Given the description of an element on the screen output the (x, y) to click on. 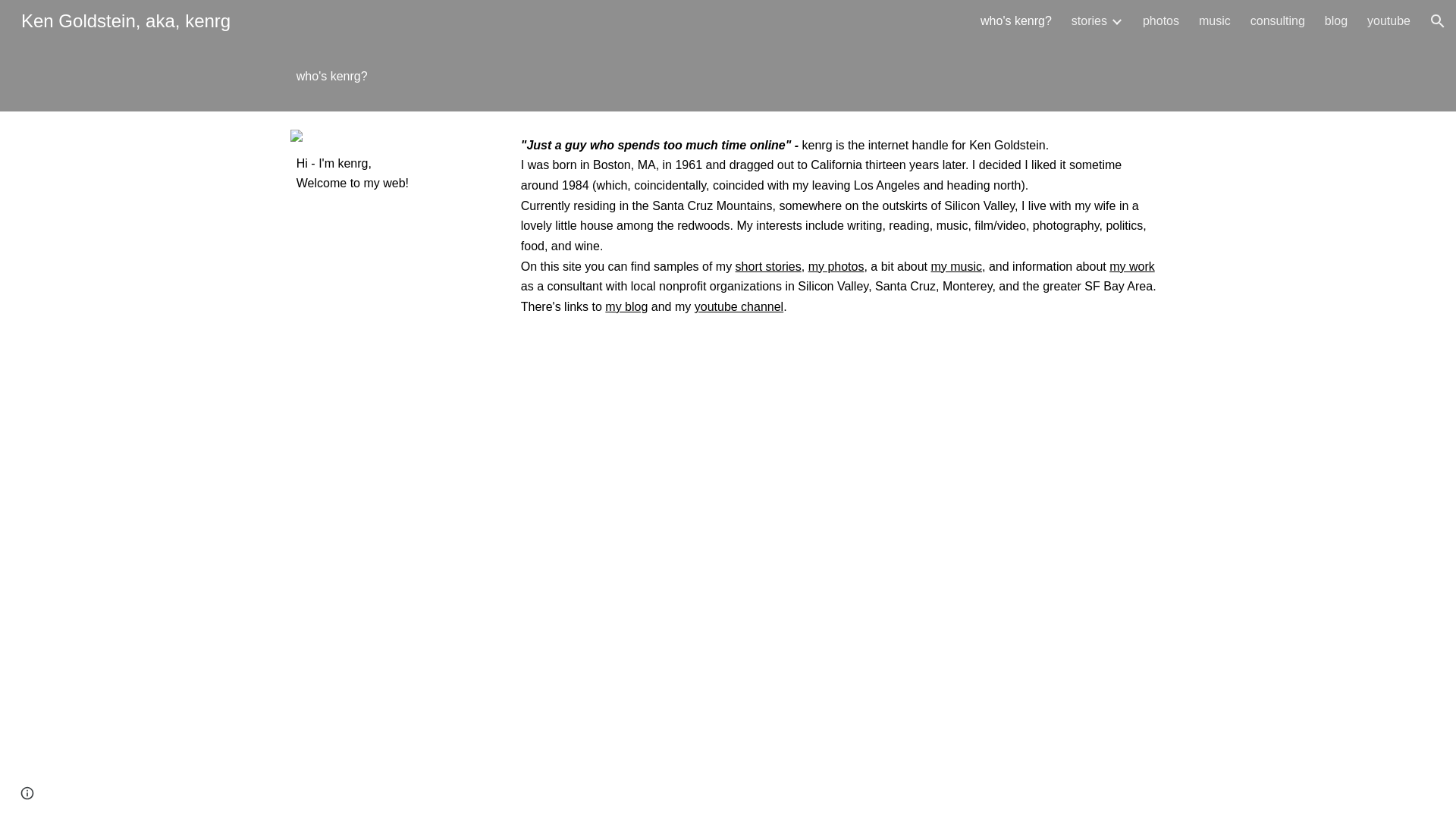
youtube (1388, 20)
consulting (1277, 20)
blog (1336, 20)
photos (1160, 20)
stories (1088, 20)
who's kenrg? (1015, 20)
music (1214, 20)
Ken Goldstein, aka, kenrg (125, 19)
